Given the description of an element on the screen output the (x, y) to click on. 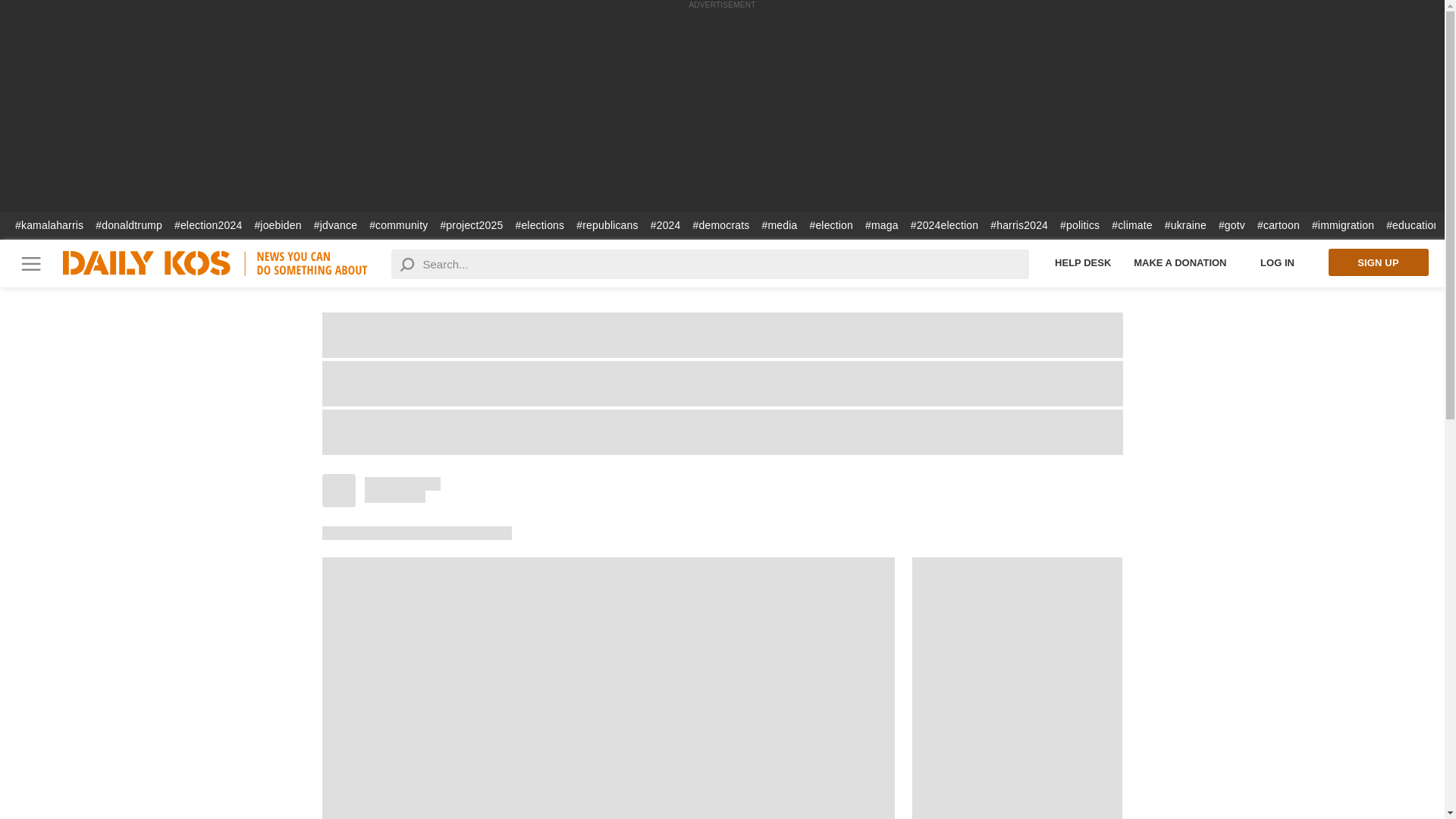
Make a Donation (1179, 262)
MAKE A DONATION (1179, 262)
Help Desk (1082, 262)
